Given the description of an element on the screen output the (x, y) to click on. 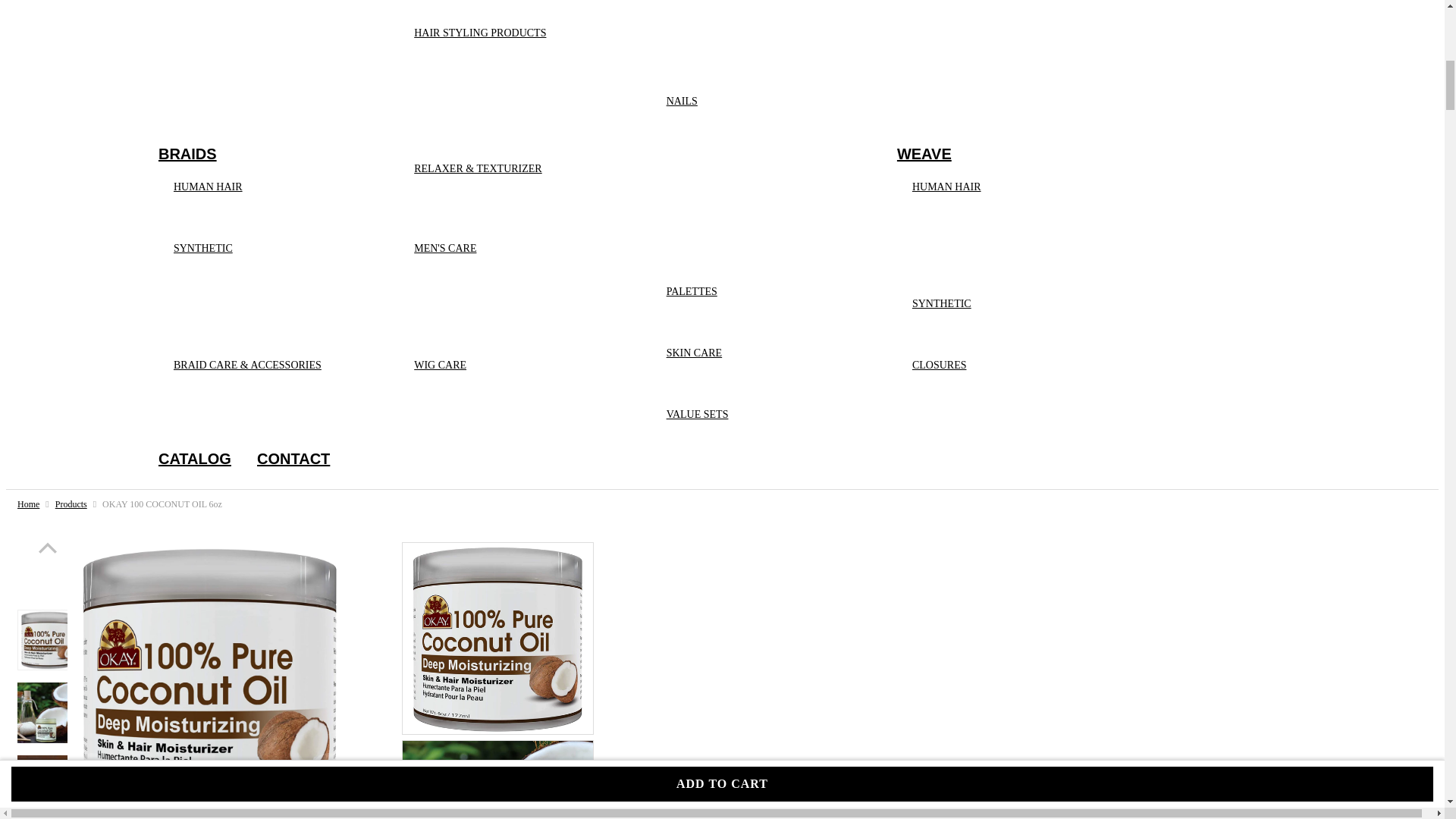
BRAID ACCESSORIES (263, 414)
HUMAN HAIR (213, 186)
PRE-STRETCHED BRAIDS (273, 316)
BRAIDS (187, 153)
MULTI PACK BRAIDS (262, 316)
SYNTHETIC BRAIDS (261, 316)
BRAID TOOL (242, 414)
Shop BTY World (28, 503)
All Products (71, 503)
HUMAN HAIR BRAIDS (265, 227)
CROCHET BRAIDS (256, 316)
SYNTHETIC (208, 248)
